Given the description of an element on the screen output the (x, y) to click on. 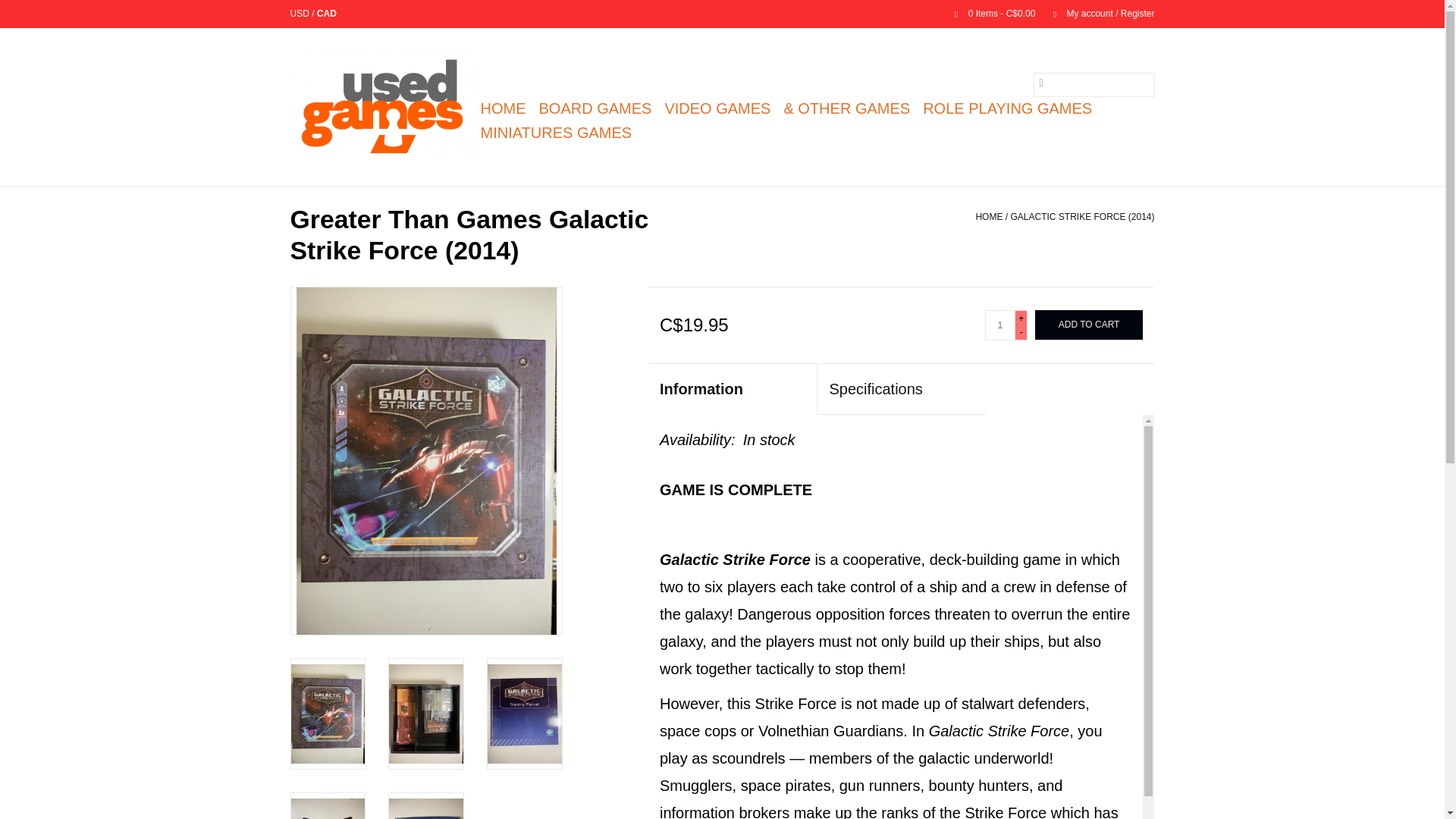
BOARD GAMES (595, 108)
cad (326, 13)
Board Games (595, 108)
USD (300, 13)
HOME (989, 216)
HOME (503, 108)
Video Games (716, 108)
Role Playing Games (1007, 108)
usd (300, 13)
My account (1096, 13)
Cart (988, 13)
MINIATURES GAMES (556, 132)
VIDEO GAMES (716, 108)
Usedgames.ca (382, 106)
1 (999, 325)
